Given the description of an element on the screen output the (x, y) to click on. 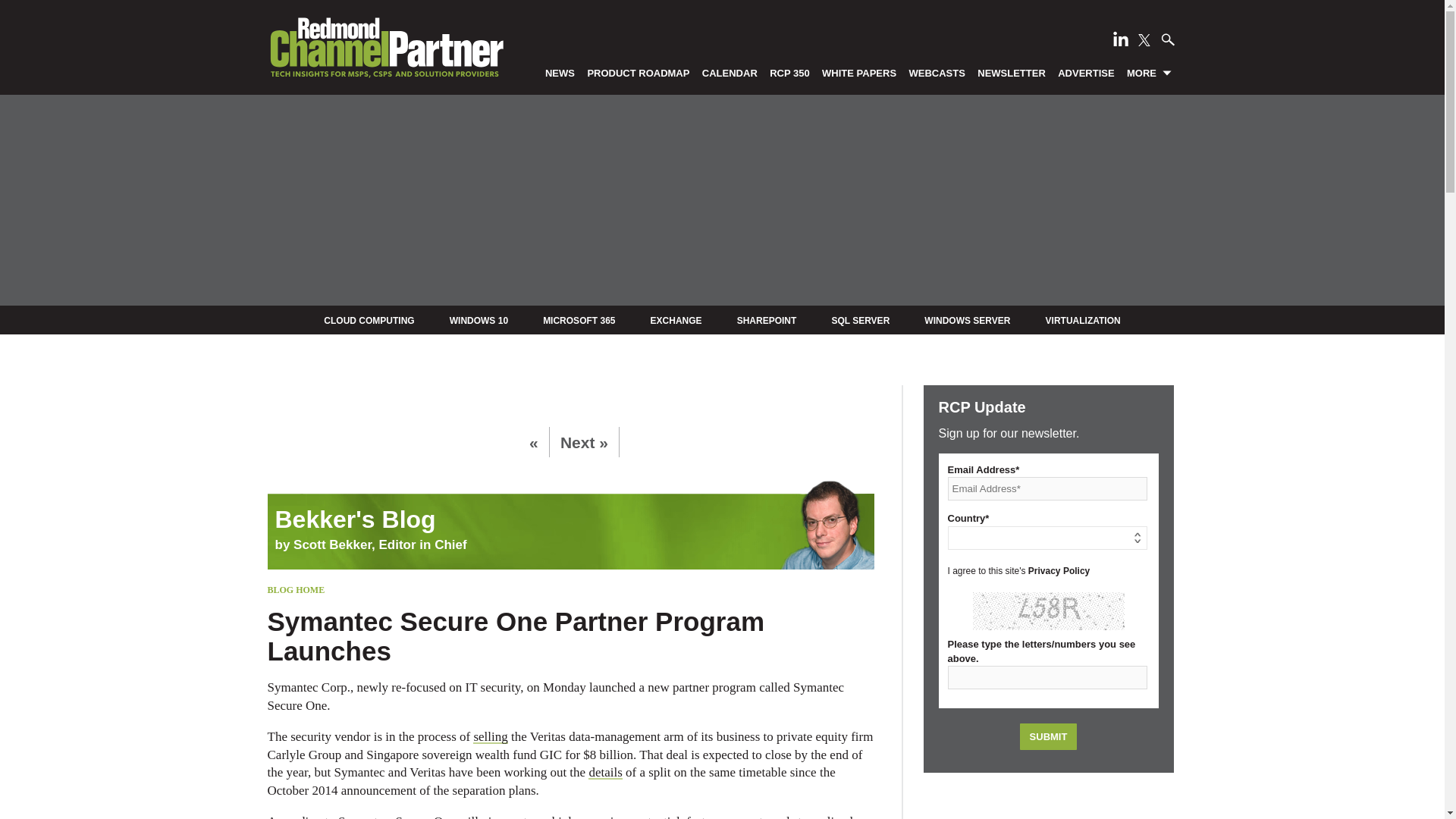
Blog archive (569, 507)
CALENDAR (729, 72)
WINDOWS SERVER (967, 320)
WHITE PAPERS (858, 72)
EXCHANGE (675, 320)
Submit (1048, 736)
CLOUD COMPUTING (368, 320)
WEBCASTS (936, 72)
ADVERTISE (1085, 72)
3rd party ad content (1047, 803)
